Given the description of an element on the screen output the (x, y) to click on. 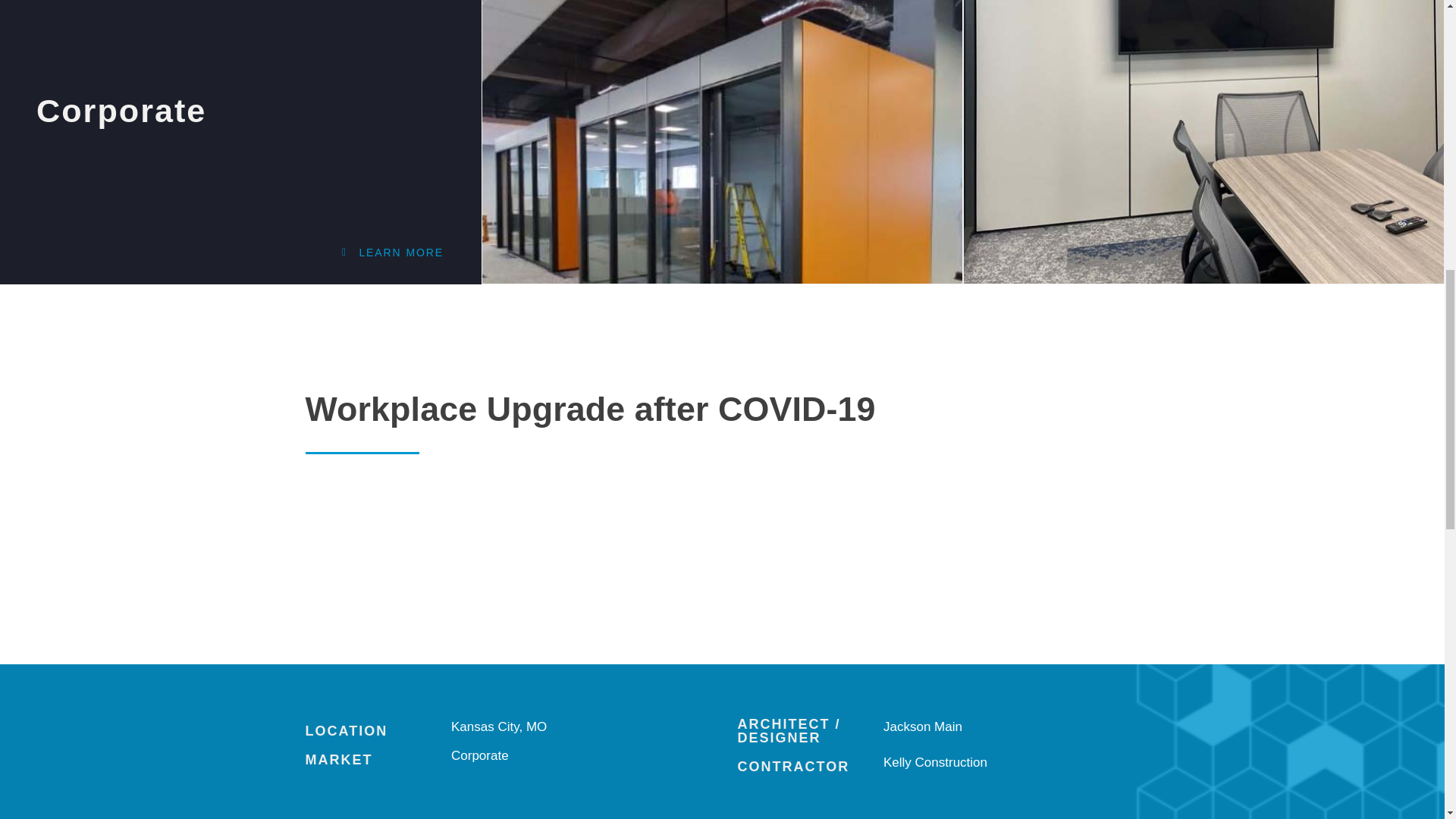
LEARN MORE (248, 251)
